Given the description of an element on the screen output the (x, y) to click on. 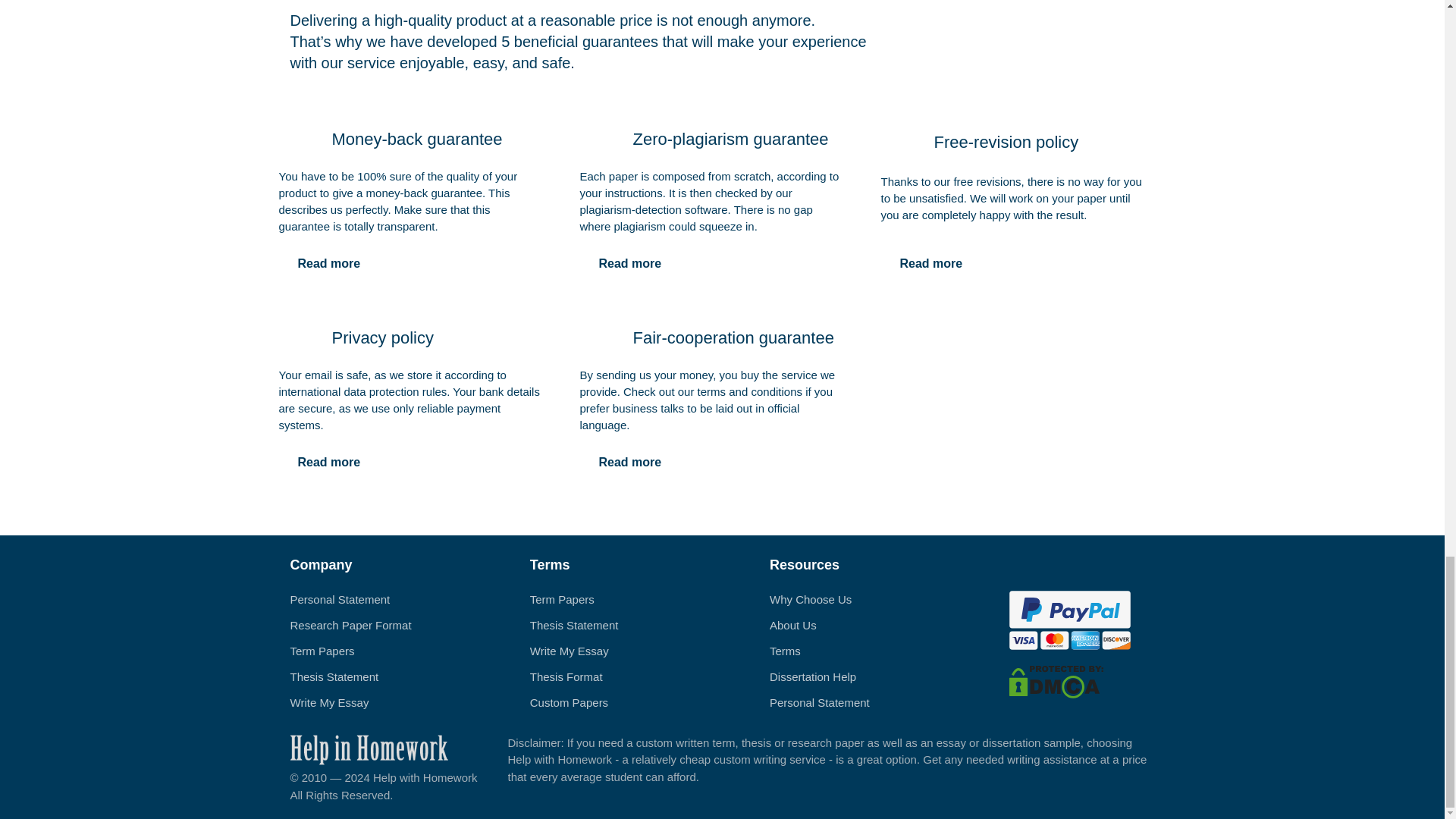
Read more (930, 264)
Write My Essay (328, 702)
Term Papers (561, 599)
Thesis Statement (573, 625)
Read more (629, 264)
Research Paper Format (349, 625)
Term Papers (321, 650)
Personal Statement (339, 599)
DMCA (1056, 680)
Read more (329, 462)
Read more (629, 462)
Thesis Statement (333, 676)
Read more (329, 264)
